Given the description of an element on the screen output the (x, y) to click on. 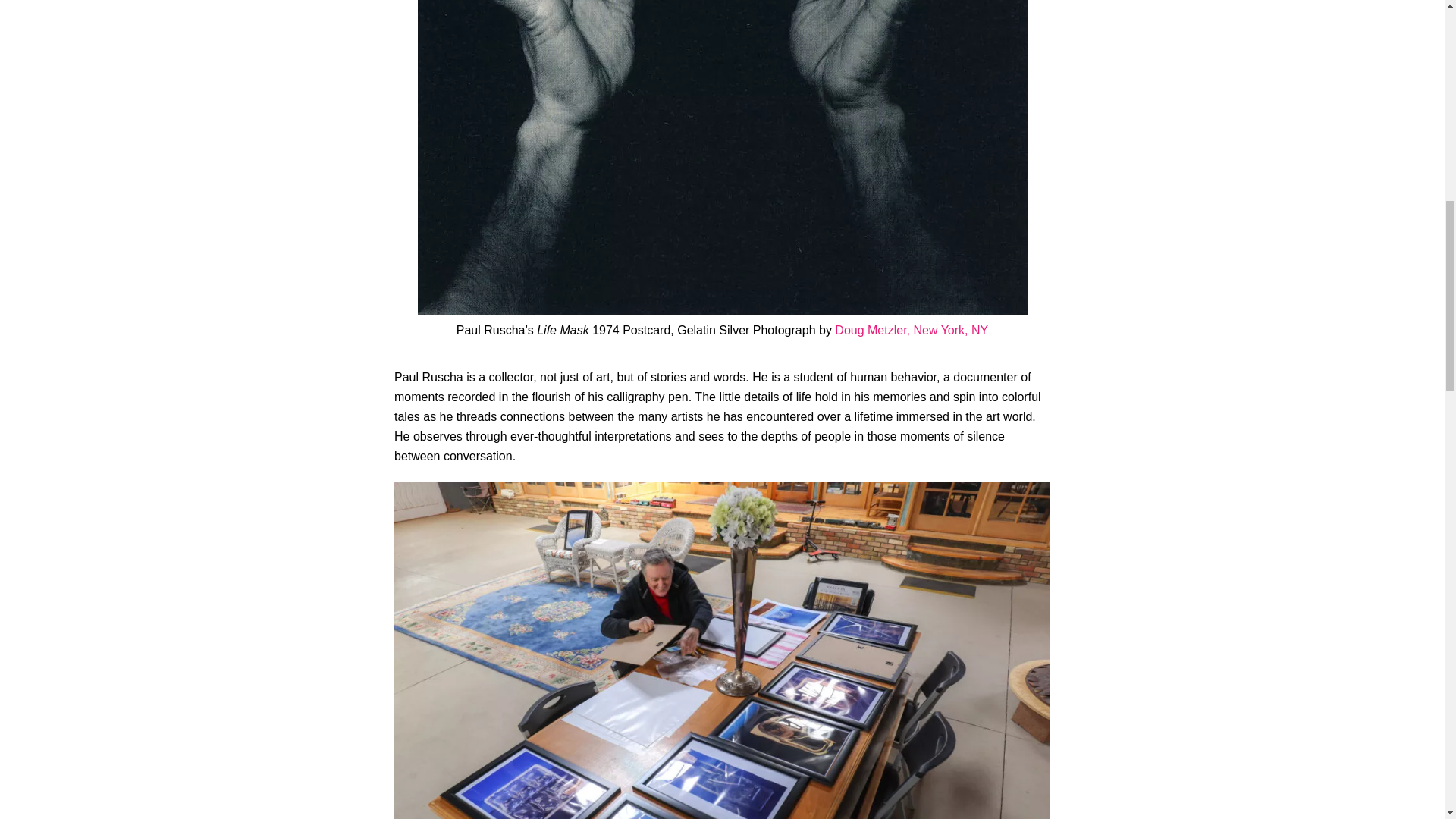
Doug Metzler, New York, NY (911, 329)
